Given the description of an element on the screen output the (x, y) to click on. 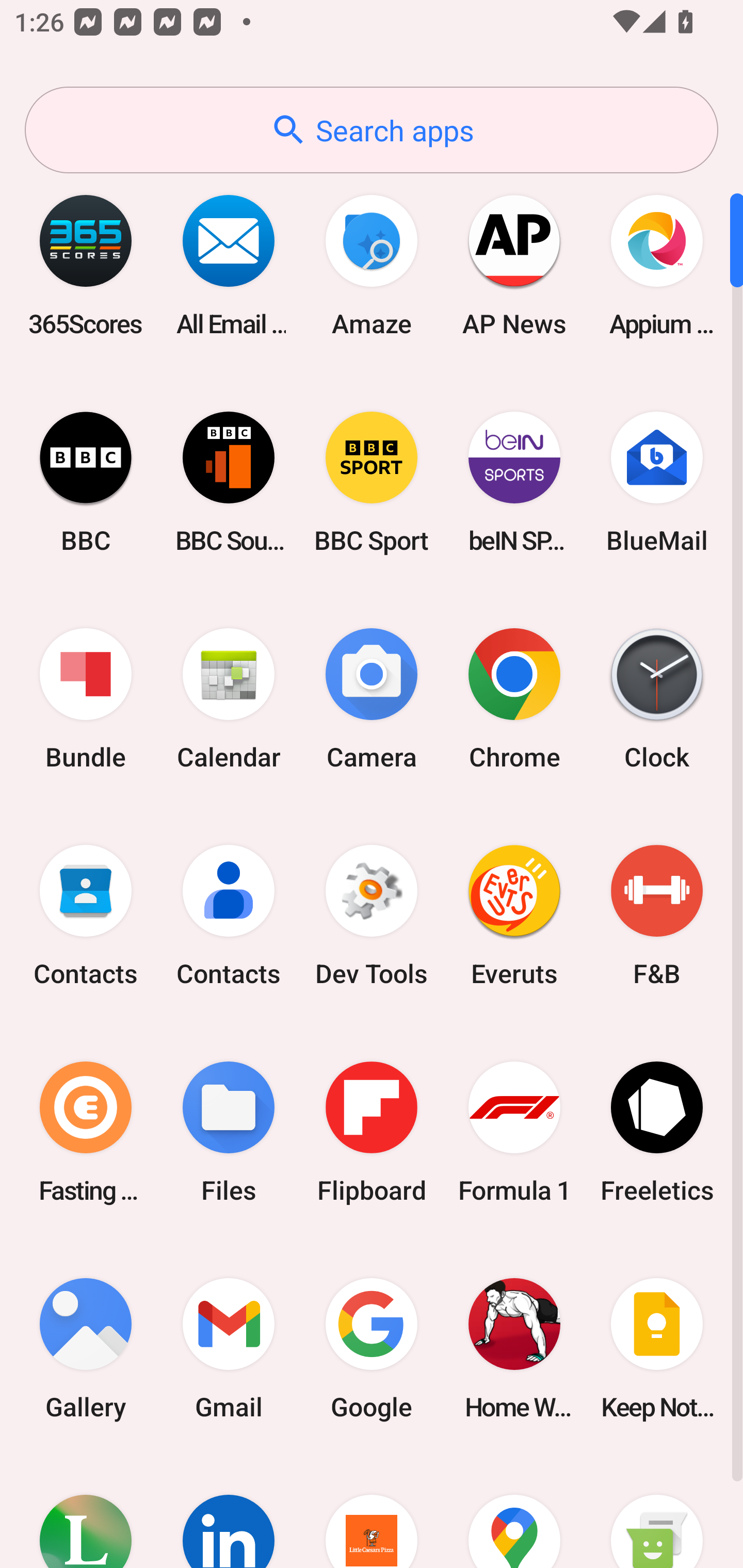
  Search apps (371, 130)
365Scores (85, 264)
All Email Connect (228, 264)
Amaze (371, 264)
AP News (514, 264)
Appium Settings (656, 264)
BBC (85, 482)
BBC Sounds (228, 482)
BBC Sport (371, 482)
beIN SPORTS (514, 482)
BlueMail (656, 482)
Bundle (85, 699)
Calendar (228, 699)
Camera (371, 699)
Chrome (514, 699)
Clock (656, 699)
Contacts (85, 915)
Contacts (228, 915)
Dev Tools (371, 915)
Everuts (514, 915)
F&B (656, 915)
Fasting Coach (85, 1131)
Files (228, 1131)
Flipboard (371, 1131)
Formula 1 (514, 1131)
Freeletics (656, 1131)
Gallery (85, 1348)
Gmail (228, 1348)
Google (371, 1348)
Home Workout (514, 1348)
Keep Notes (656, 1348)
Lifesum (85, 1512)
LinkedIn (228, 1512)
Little Caesars Pizza (371, 1512)
Maps (514, 1512)
Messaging (656, 1512)
